Given the description of an element on the screen output the (x, y) to click on. 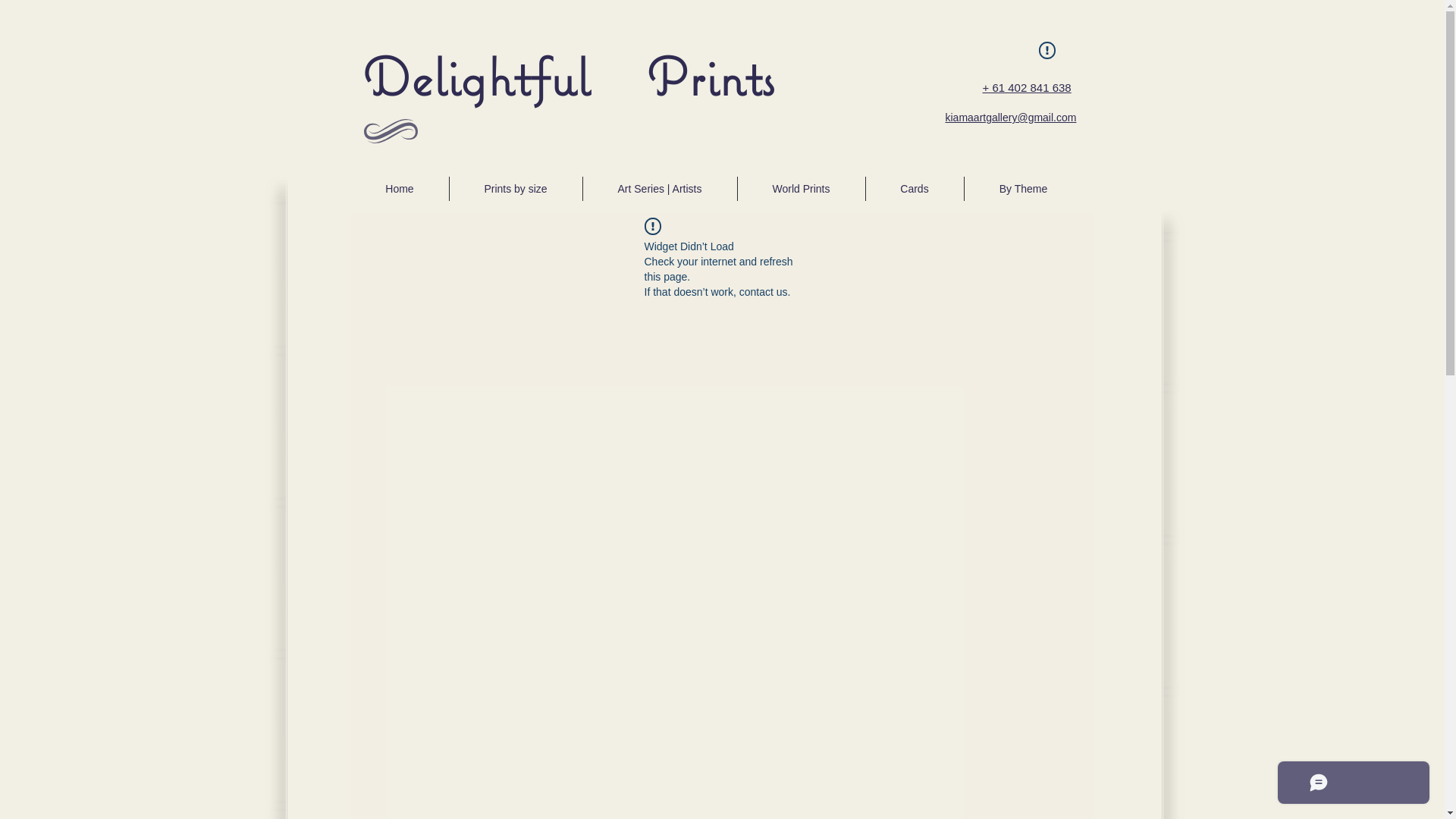
Art Series | Artists Element type: text (659, 188)
Prints by size Element type: text (514, 188)
Cards Element type: text (914, 188)
kiamaartgallery@gmail.com Element type: text (1010, 117)
World Prints Element type: text (800, 188)
Home Element type: text (399, 188)
+ 61 402 841 638 Element type: text (1026, 94)
By Theme Element type: text (1023, 188)
0 Element type: text (1037, 55)
